Given the description of an element on the screen output the (x, y) to click on. 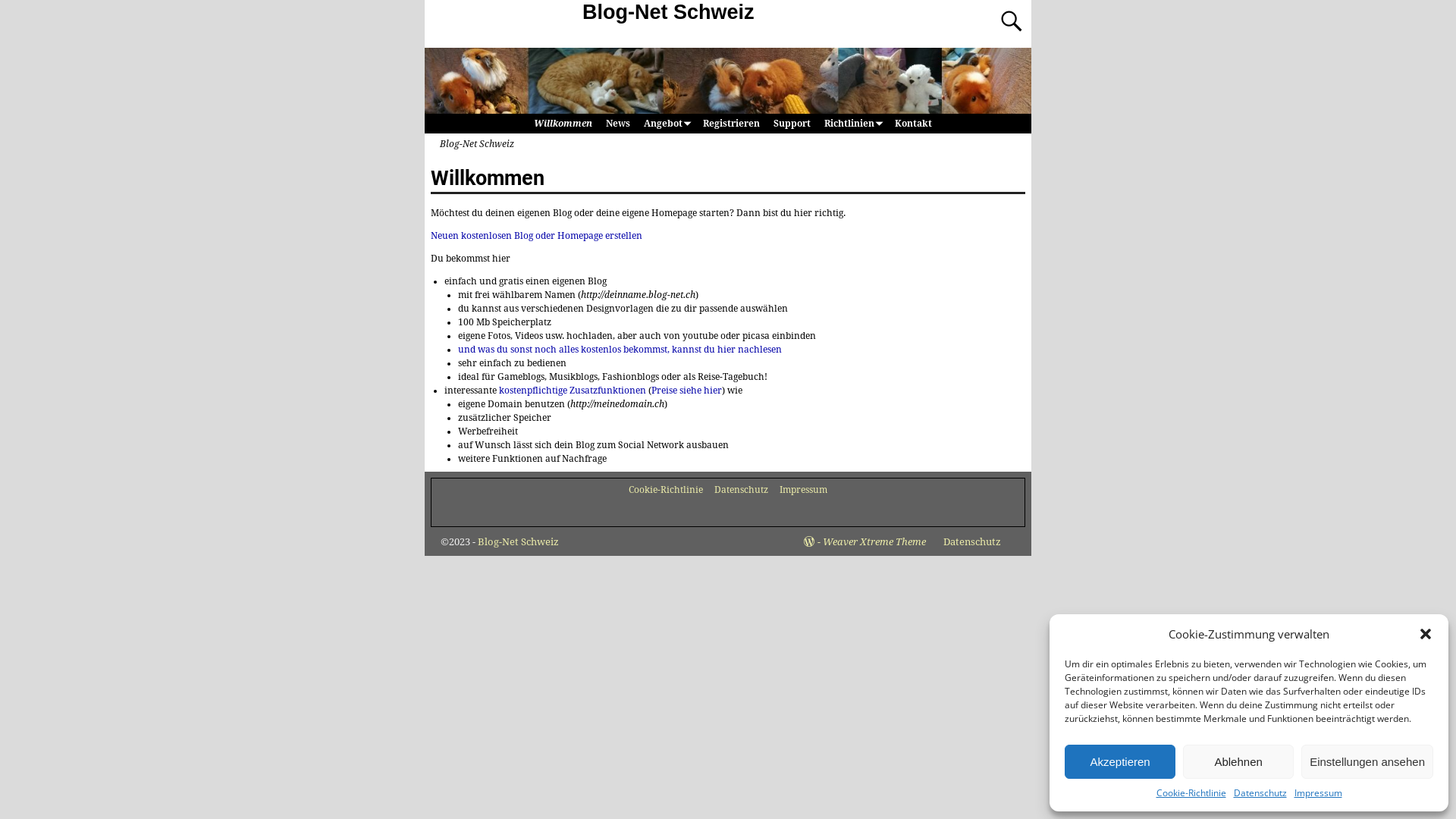
Willkommen Element type: text (562, 123)
Ablehnen Element type: text (1238, 761)
Weaver Xtreme Theme Element type: text (873, 541)
Blog-Net Schweiz Element type: text (517, 541)
Registrieren Element type: text (731, 123)
Datenschutz Element type: text (971, 541)
kostenpflichtige Zusatzfunktionen Element type: text (572, 390)
Kontakt Element type: text (912, 123)
Datenschutz Element type: text (741, 489)
Datenschutz Element type: text (1259, 793)
News Element type: text (618, 123)
Angebot Element type: text (666, 123)
Preise siehe hier Element type: text (686, 390)
Impressum Element type: text (803, 489)
Support Element type: text (790, 123)
Neuen kostenlosen Blog oder Homepage erstellen Element type: text (536, 235)
Impressum Element type: text (1317, 793)
Cookie-Richtlinie Element type: text (665, 489)
- Element type: text (812, 541)
Blog-Net Schweiz Element type: text (668, 11)
Akzeptieren Element type: text (1119, 761)
Richtlinien Element type: text (852, 123)
Einstellungen ansehen Element type: text (1367, 761)
Cookie-Richtlinie Element type: text (1190, 793)
